Given the description of an element on the screen output the (x, y) to click on. 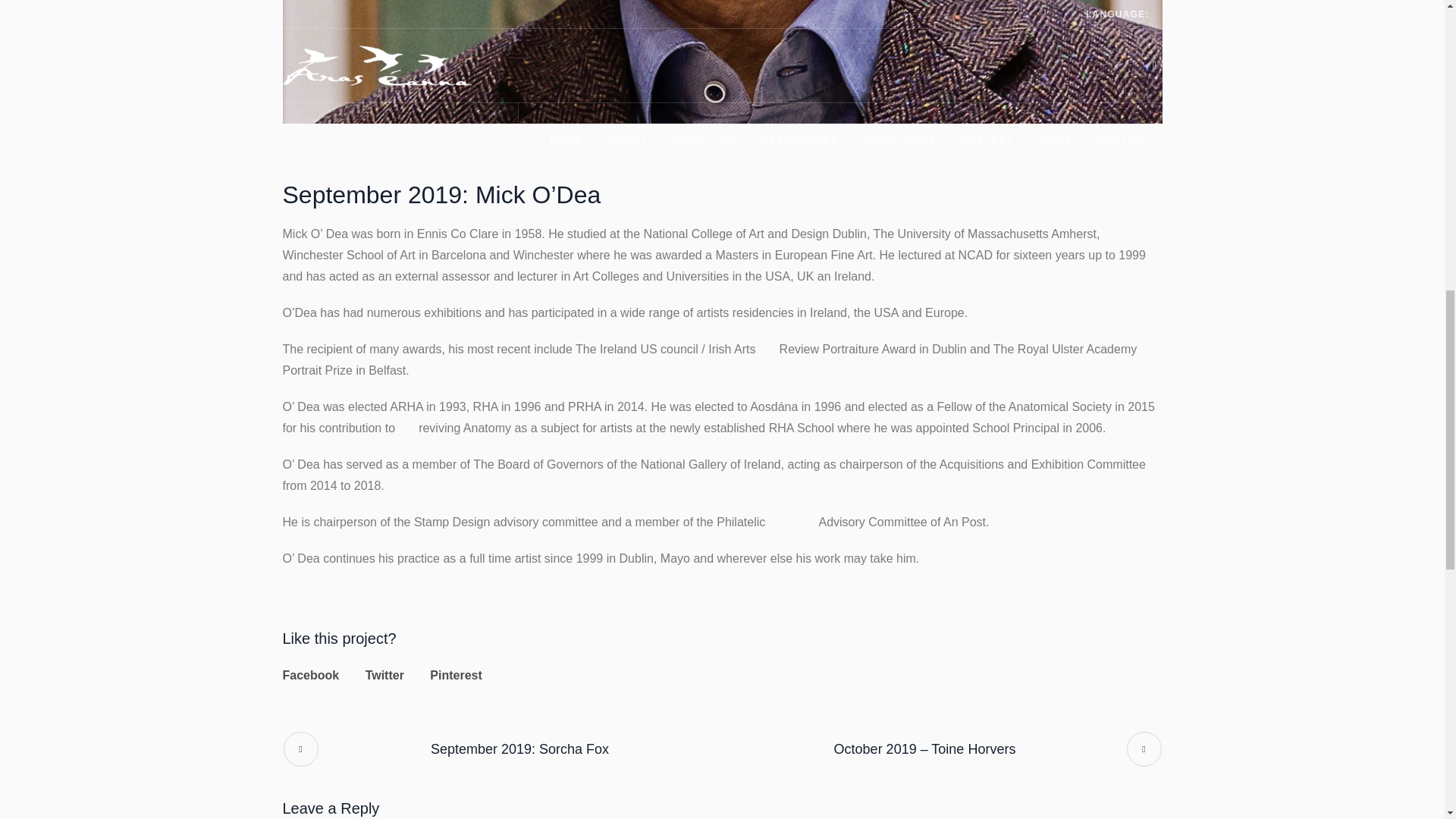
Facebook (310, 675)
September 2019: Sorcha Fox (502, 748)
Pinterest (455, 675)
Twitter (384, 675)
